Given the description of an element on the screen output the (x, y) to click on. 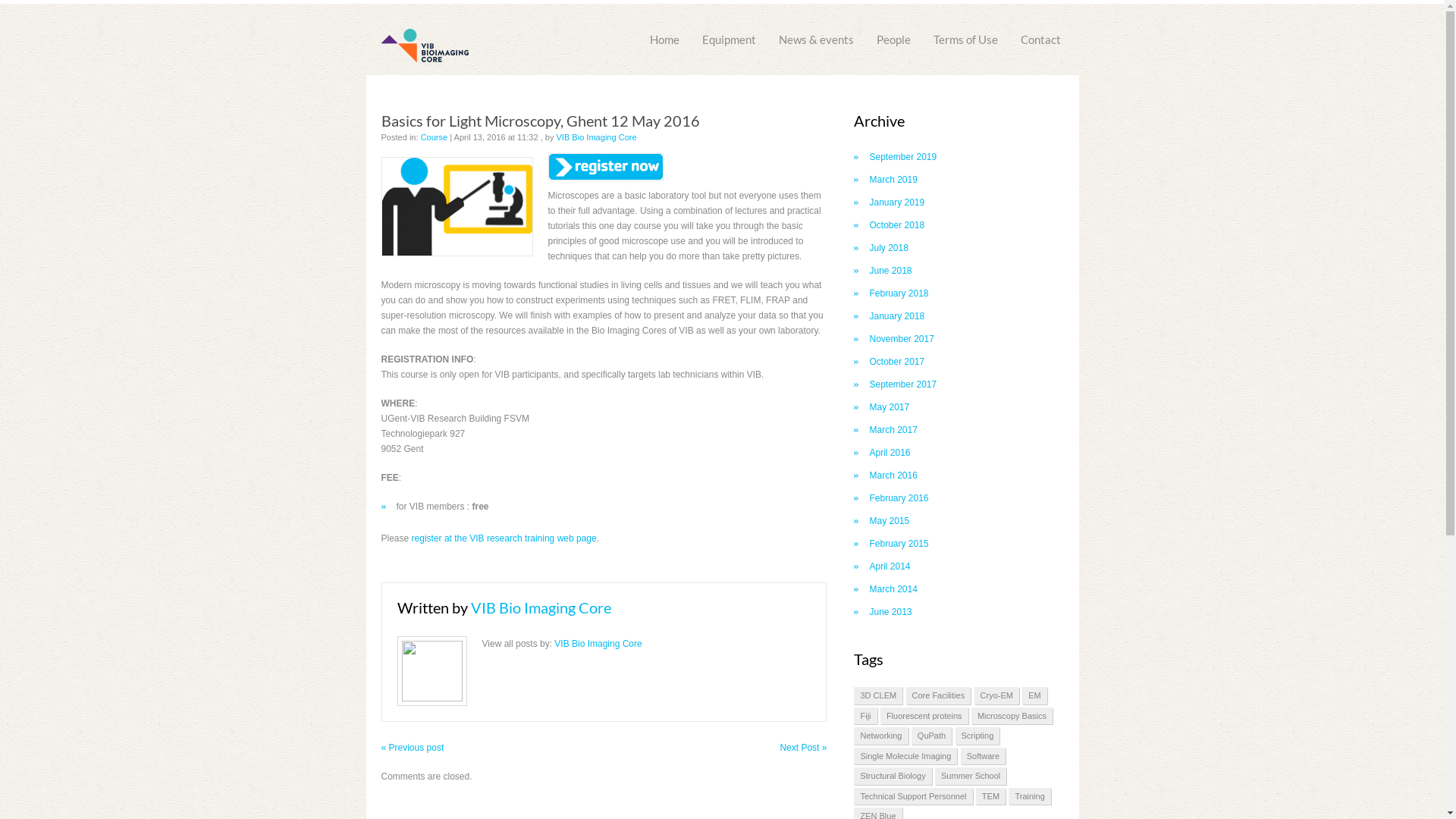
March 2019 Element type: text (892, 179)
Training Element type: text (1029, 796)
VIB Bio Imaging Core Element type: text (540, 607)
June 2018 Element type: text (890, 270)
February 2018 Element type: text (898, 293)
July 2018 Element type: text (888, 247)
Equipment Element type: text (727, 32)
April 2014 Element type: text (889, 566)
February 2015 Element type: text (898, 543)
Scripting Element type: text (977, 735)
VIB Bio Imaging Core Element type: text (597, 643)
VIB Bio Imaging Core Element type: text (596, 136)
September 2017 Element type: text (902, 384)
People Element type: text (892, 32)
Fluorescent proteins Element type: text (924, 715)
March 2016 Element type: text (892, 475)
October 2017 Element type: text (896, 361)
News & events Element type: text (815, 32)
Fiji Element type: text (864, 715)
Course Element type: text (434, 136)
3D CLEM Element type: text (877, 695)
May 2017 Element type: text (889, 406)
TEM Element type: text (990, 796)
September 2019 Element type: text (902, 156)
May 2015 Element type: text (889, 520)
March 2014 Element type: text (892, 588)
Software Element type: text (982, 756)
June 2013 Element type: text (890, 611)
Technical Support Personnel Element type: text (912, 796)
Summer School Element type: text (970, 775)
Core Facilities Element type: text (937, 695)
February 2016 Element type: text (898, 497)
January 2019 Element type: text (896, 202)
November 2017 Element type: text (901, 338)
January 2018 Element type: text (896, 315)
register at the VIB research training web page Element type: text (503, 538)
Contact Element type: text (1039, 32)
Networking Element type: text (880, 735)
Structural Biology Element type: text (892, 775)
October 2018 Element type: text (896, 224)
March 2017 Element type: text (892, 429)
Microscopy Basics Element type: text (1011, 715)
Terms of Use Element type: text (965, 32)
April 2016 Element type: text (889, 452)
EM Element type: text (1034, 695)
Single Molecule Imaging Element type: text (905, 756)
QuPath Element type: text (931, 735)
Home Element type: text (664, 32)
Cryo-EM Element type: text (996, 695)
